Given the description of an element on the screen output the (x, y) to click on. 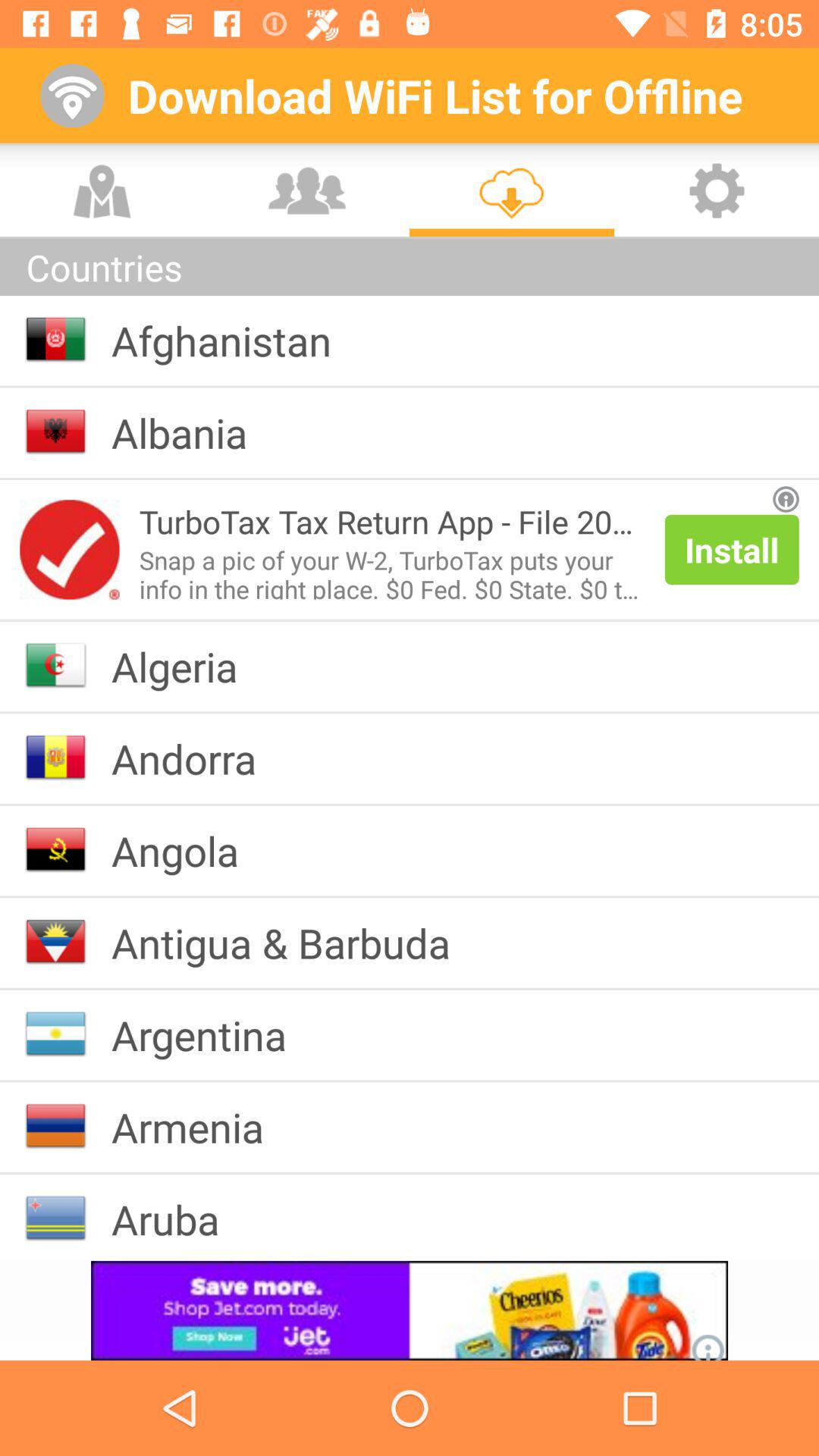
turbotax advertisement (69, 549)
